Given the description of an element on the screen output the (x, y) to click on. 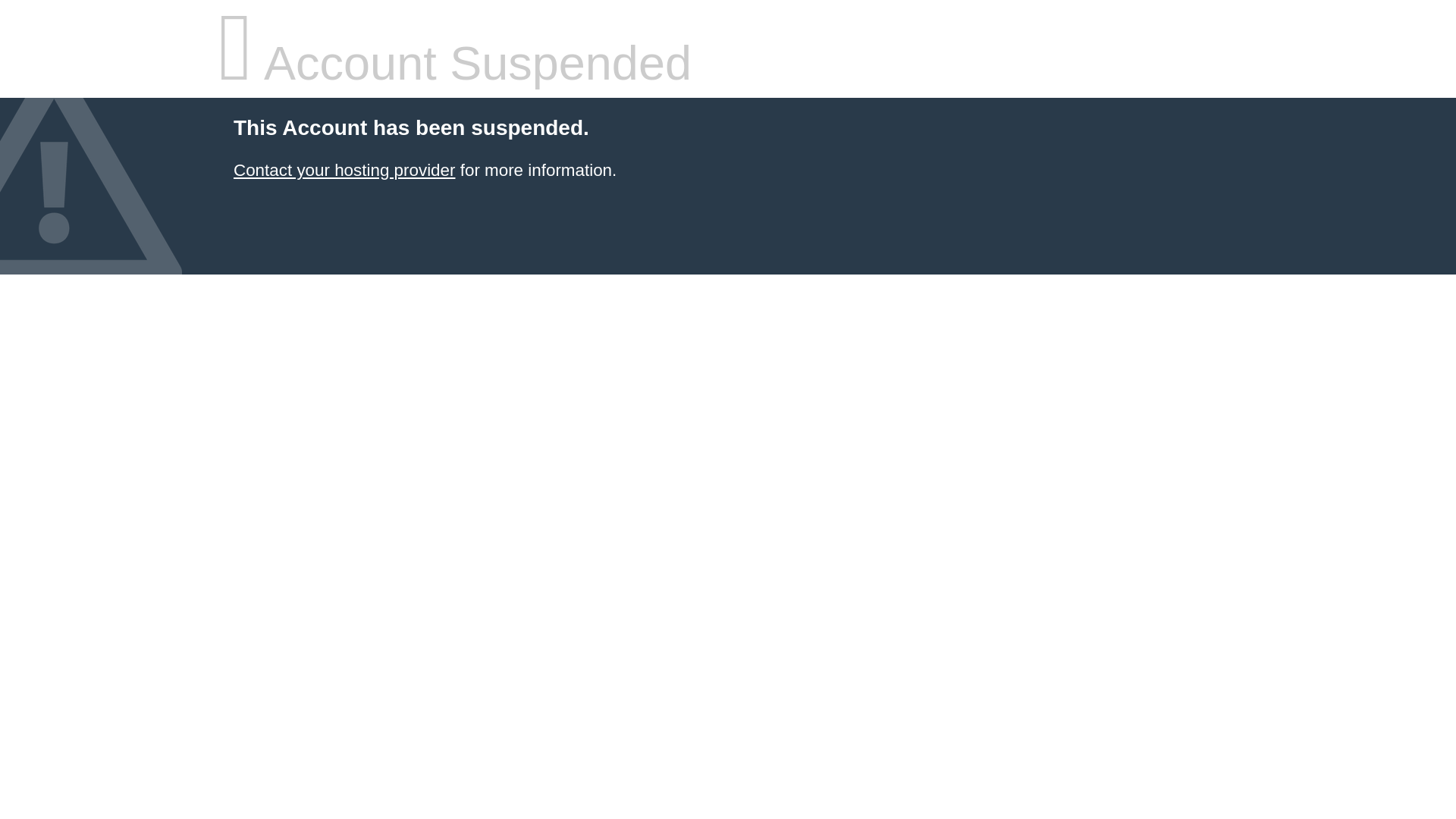
Contact your hosting provider (343, 169)
